Given the description of an element on the screen output the (x, y) to click on. 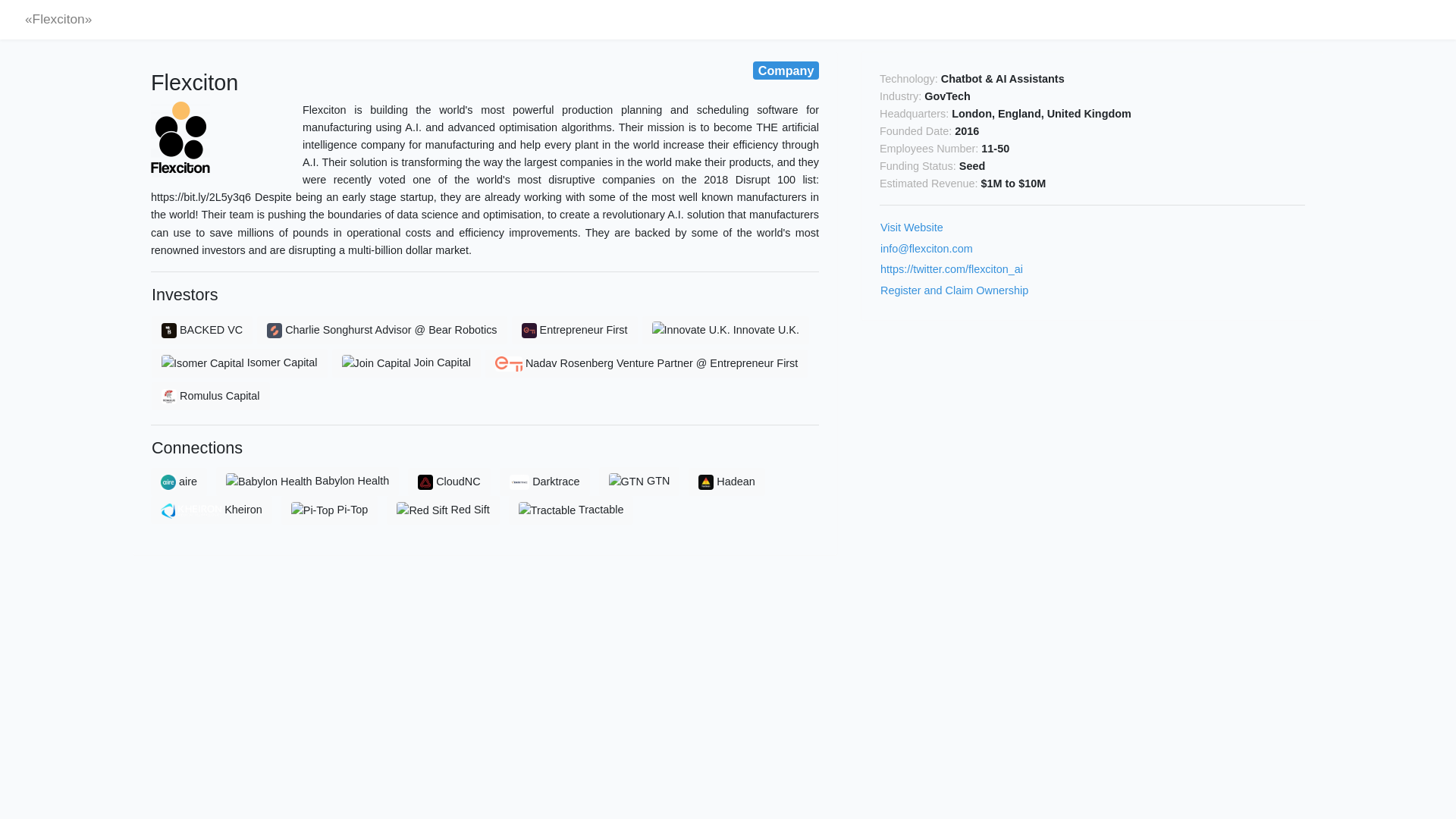
Darktrace (239, 362)
Register and Claim Ownership (544, 481)
GTN (953, 290)
Kheiron (178, 481)
CloudNC (638, 481)
Red Sift (405, 362)
Isomer Capital (211, 510)
Romulus Capital (448, 481)
